Given the description of an element on the screen output the (x, y) to click on. 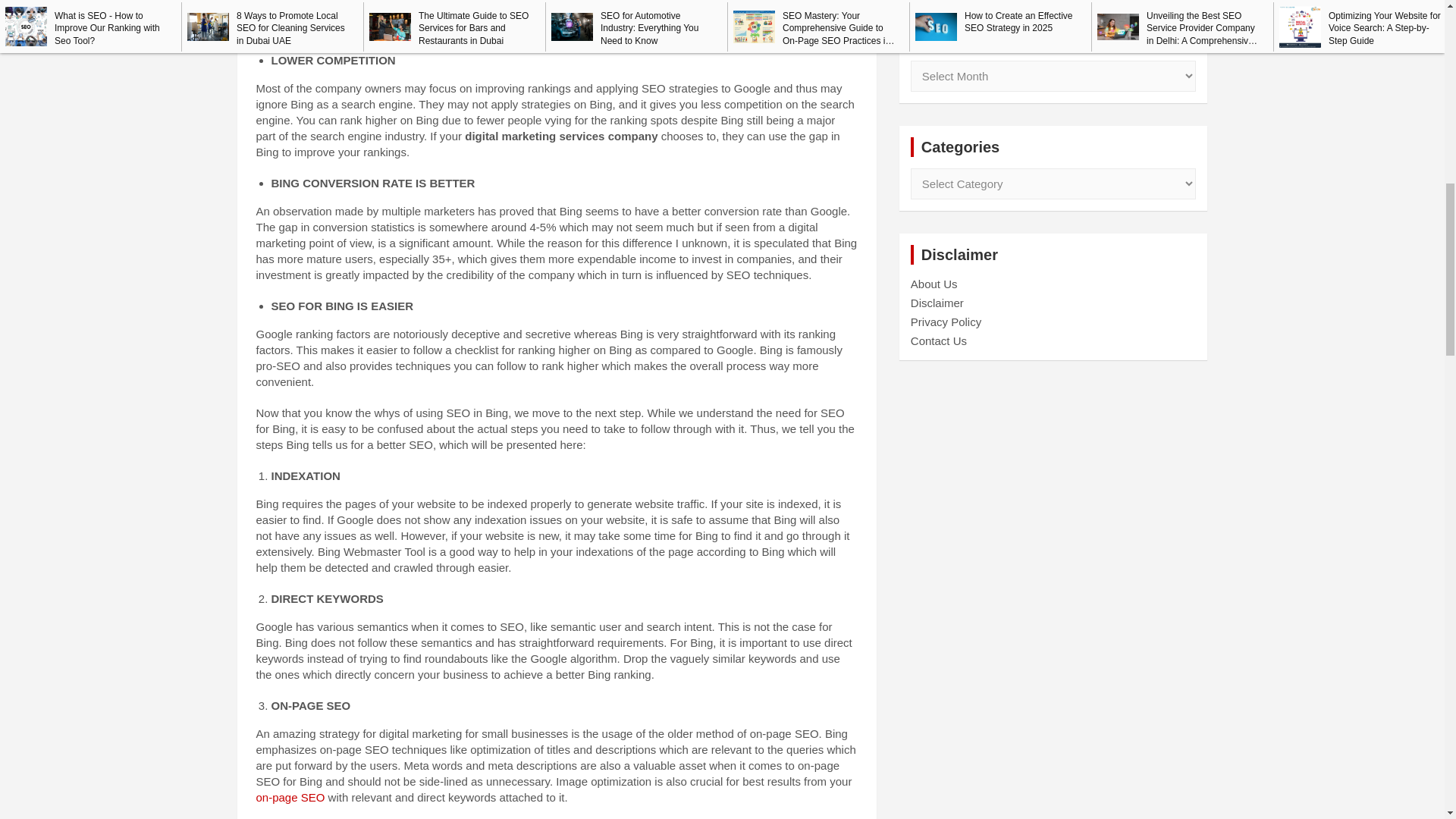
on-page SEO (290, 797)
